Given the description of an element on the screen output the (x, y) to click on. 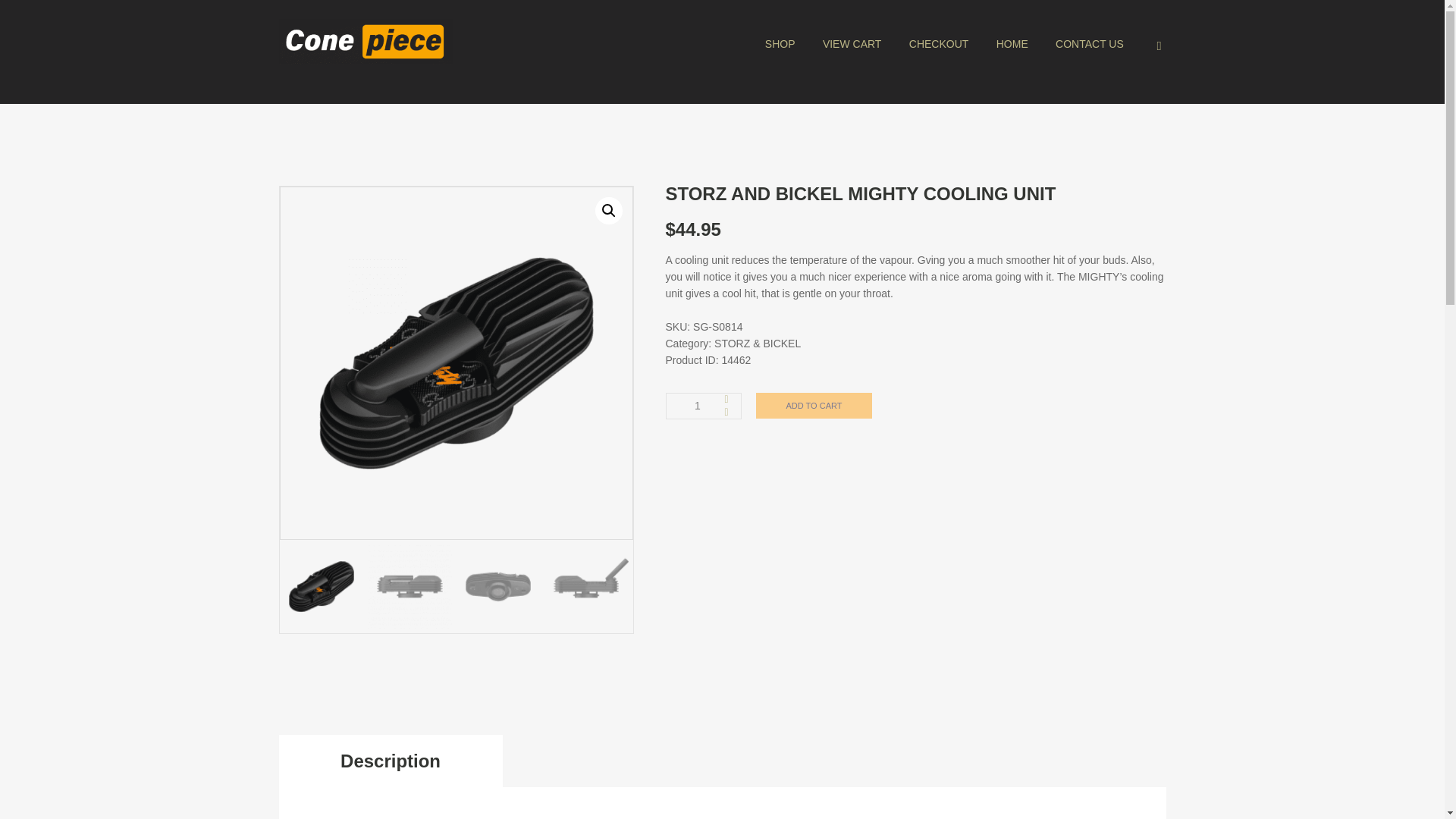
CHECKOUT (938, 44)
SHOP (780, 44)
VIEW CART (852, 44)
MIGHTY-COOLING-UNIT (456, 362)
1 (702, 406)
Open search (1153, 45)
CONTACT US (1089, 44)
HOME (1012, 44)
MIGHTY-COOLING-UNIT (807, 362)
